Given the description of an element on the screen output the (x, y) to click on. 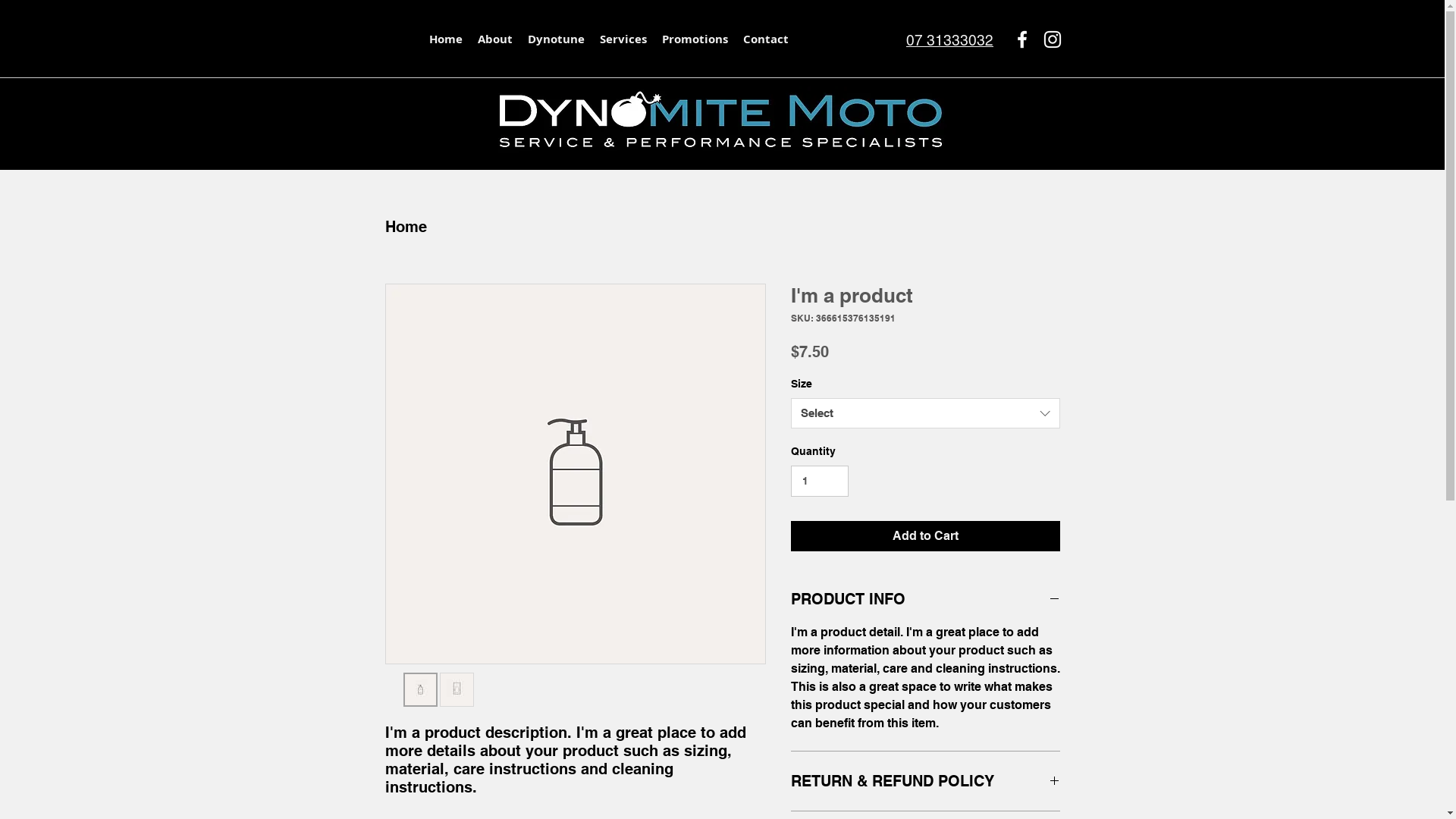
RETURN & REFUND POLICY Element type: text (924, 780)
Promotions Element type: text (693, 39)
Dynotune Element type: text (556, 39)
Home Element type: text (405, 226)
Add to Cart Element type: text (924, 535)
Log In Element type: text (1009, 89)
About Element type: text (495, 39)
Contact Element type: text (765, 39)
PRODUCT INFO Element type: text (924, 598)
07 31333032 Element type: text (949, 39)
Services Element type: text (622, 39)
Home Element type: text (445, 39)
Select Element type: text (924, 413)
